Given the description of an element on the screen output the (x, y) to click on. 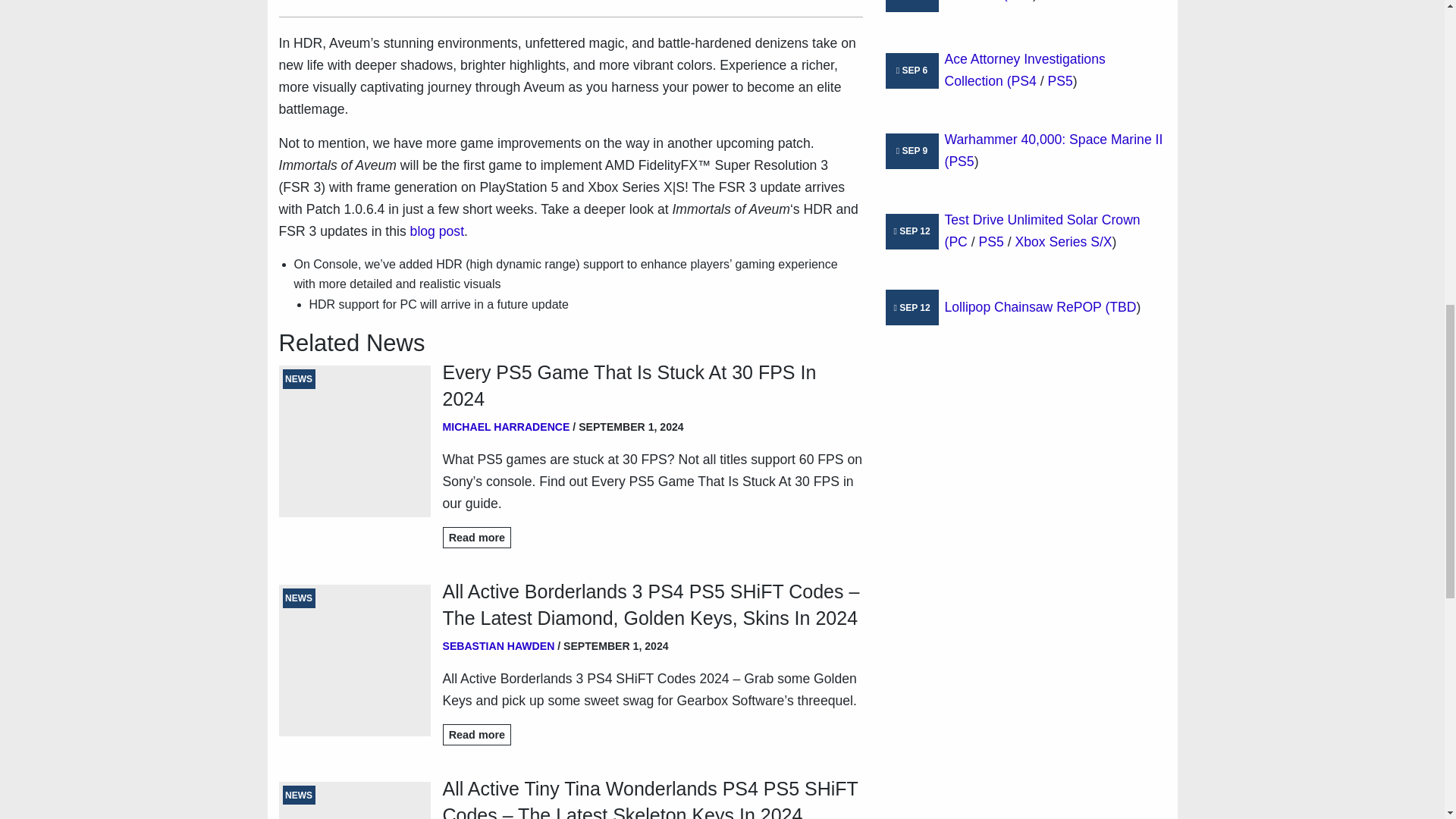
blog post (437, 231)
NEWS (354, 440)
NEWS (354, 660)
Read more (477, 537)
Every PS5 Game That Is Stuck At 30 FPS In 2024 (652, 385)
SEBASTIAN HAWDEN (498, 645)
MICHAEL HARRADENCE (506, 426)
NEWS (354, 800)
Read more (477, 734)
